Given the description of an element on the screen output the (x, y) to click on. 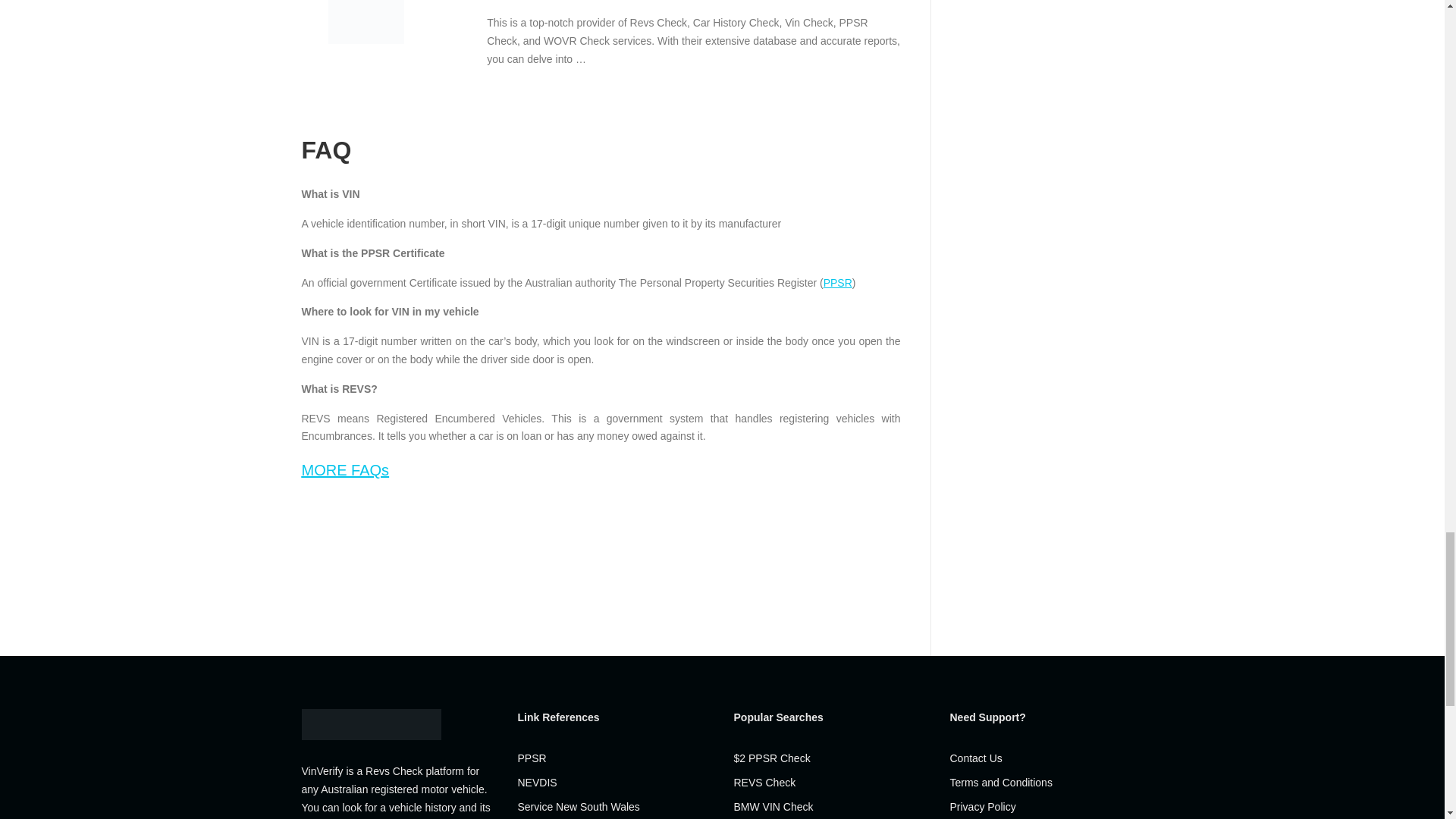
Happy customer, QLD 3 (365, 22)
REVS Check (764, 782)
PPSR (837, 282)
MORE FAQs (345, 469)
Service New South Wales (577, 806)
NEVDIS (536, 782)
BMW VIN Check (773, 806)
PPSR (531, 758)
